Given the description of an element on the screen output the (x, y) to click on. 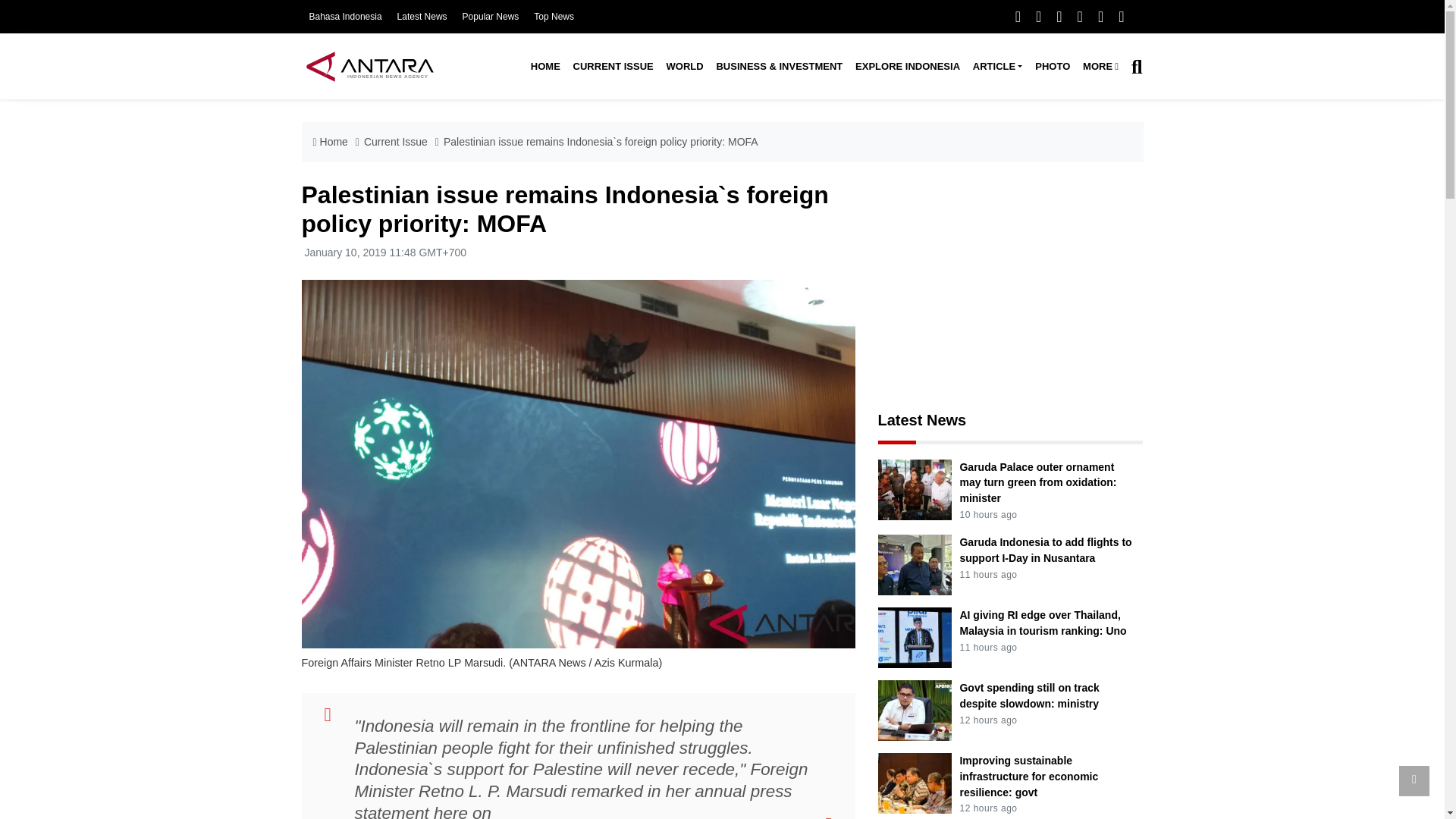
Article (996, 66)
Explore Indonesia (907, 66)
ARTICLE (996, 66)
Top News (553, 16)
Popular News (491, 16)
Bahasa Indonesia (344, 16)
Latest News (421, 16)
Top News (553, 16)
ANTARA News (369, 66)
Bahasa Indonesia (344, 16)
